Given the description of an element on the screen output the (x, y) to click on. 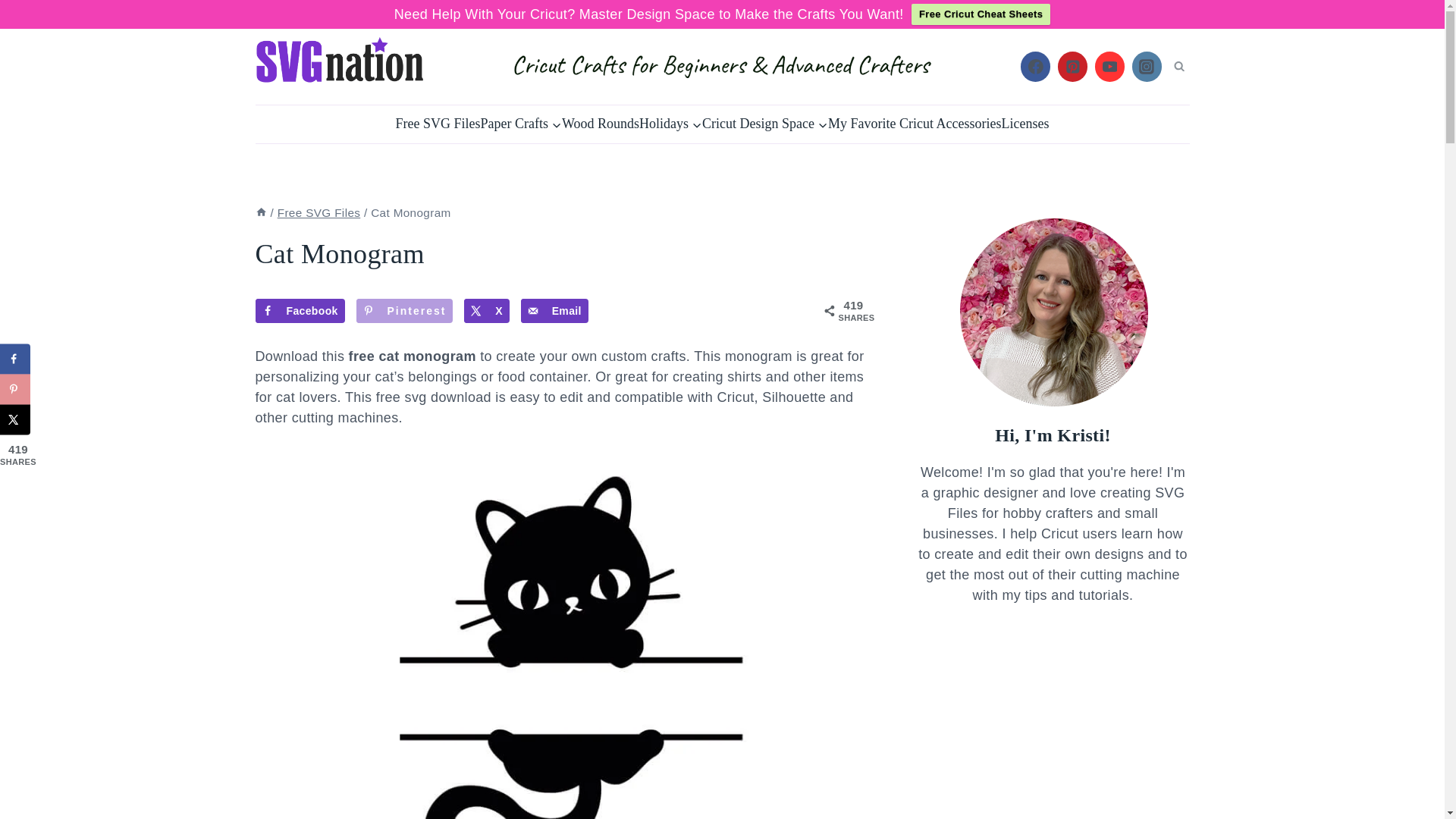
Free SVG Files (438, 124)
Share on Facebook (15, 358)
Free Cricut Cheat Sheets (980, 14)
Share on X (486, 310)
Cricut Design Space (764, 124)
My Favorite Cricut Accessories (914, 124)
Wood Rounds (600, 124)
Licenses (1024, 124)
Save to Pinterest (404, 310)
Send over email (554, 310)
